Given the description of an element on the screen output the (x, y) to click on. 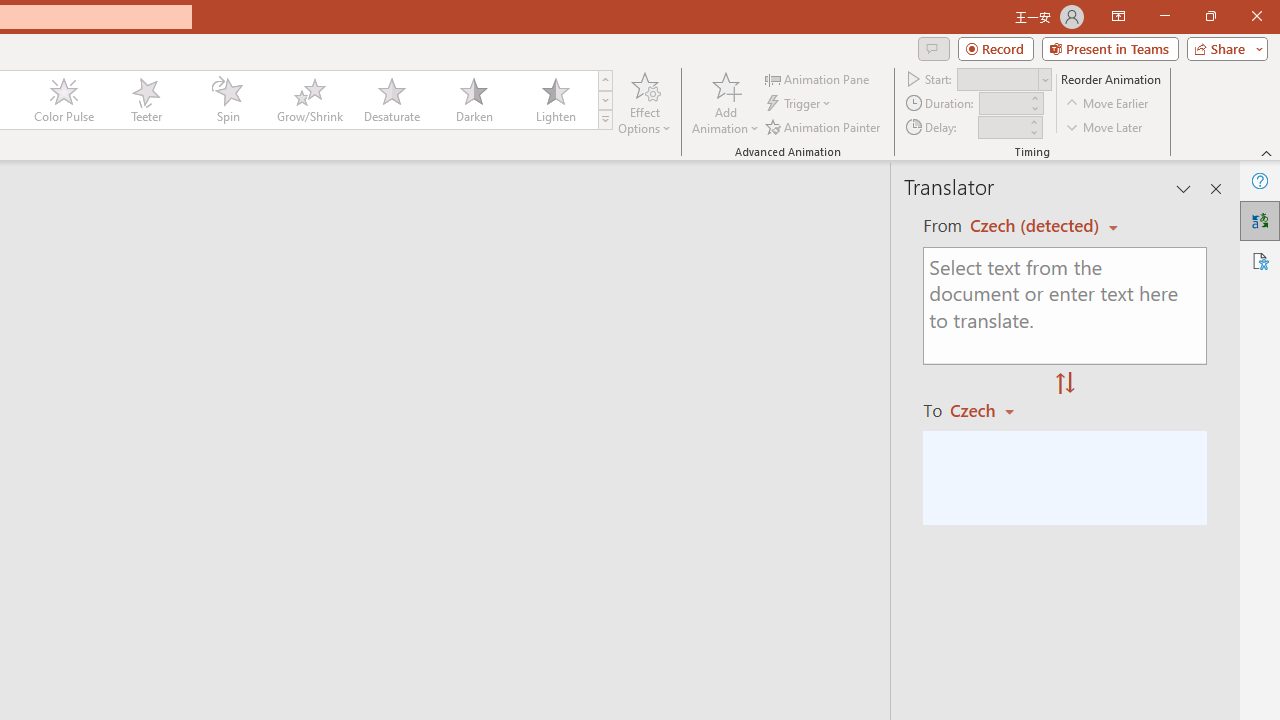
Grow/Shrink (309, 100)
Darken (473, 100)
Czech (detected) (1037, 225)
Desaturate (391, 100)
Effect Options (644, 102)
Czech (991, 409)
Move Earlier (1107, 103)
